Given the description of an element on the screen output the (x, y) to click on. 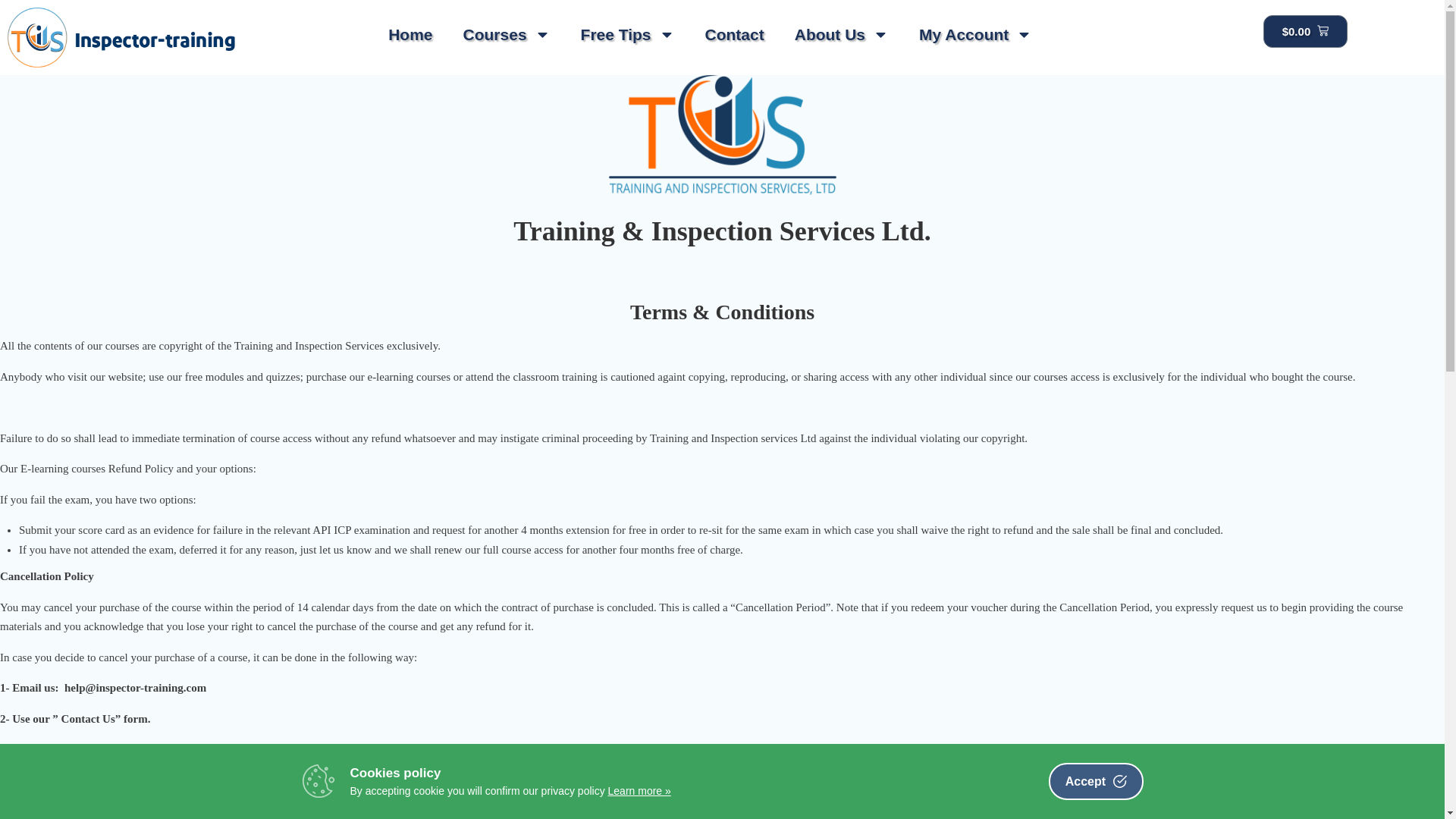
About Us (841, 34)
My Account (975, 34)
Contact (734, 34)
Courses (507, 34)
Free Tips (628, 34)
Home (409, 34)
